Given the description of an element on the screen output the (x, y) to click on. 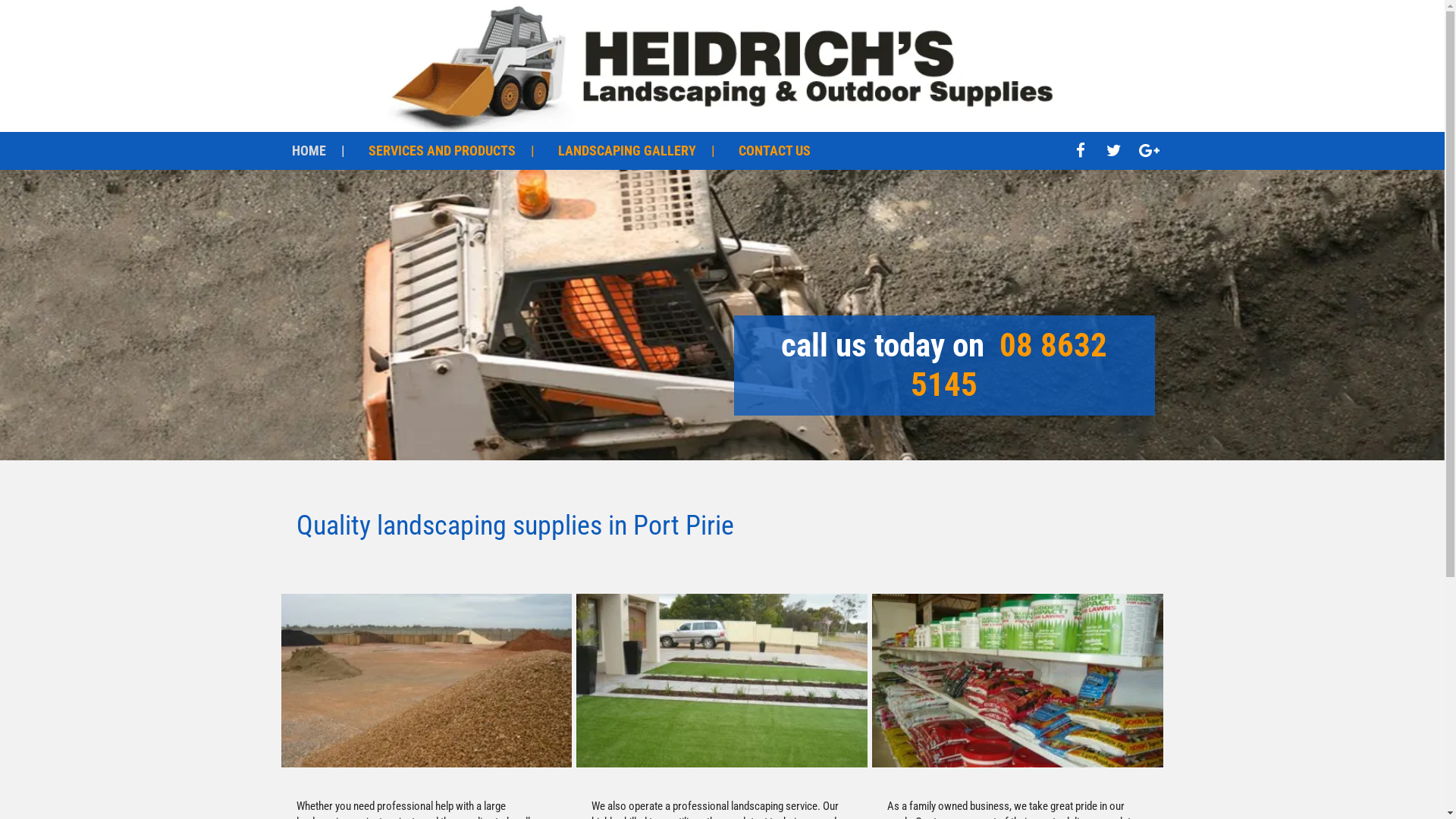
HOME     | Element type: text (317, 150)
LANDSCAPING GALLERY     | Element type: text (636, 150)
blank Element type: hover (721, 438)
blank Element type: hover (721, 241)
08 8632 5145 Element type: text (1008, 365)
CONTACT US Element type: text (774, 150)
Landscaping Supplies Port Pirie Element type: hover (425, 680)
SERVICES AND PRODUCTS     | Element type: text (451, 150)
